Given the description of an element on the screen output the (x, y) to click on. 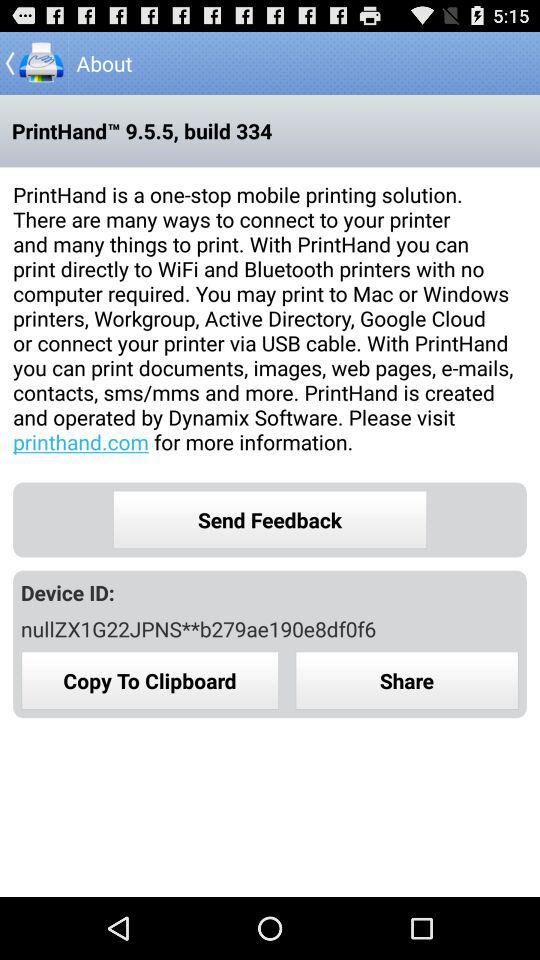
jump until the share item (407, 680)
